Given the description of an element on the screen output the (x, y) to click on. 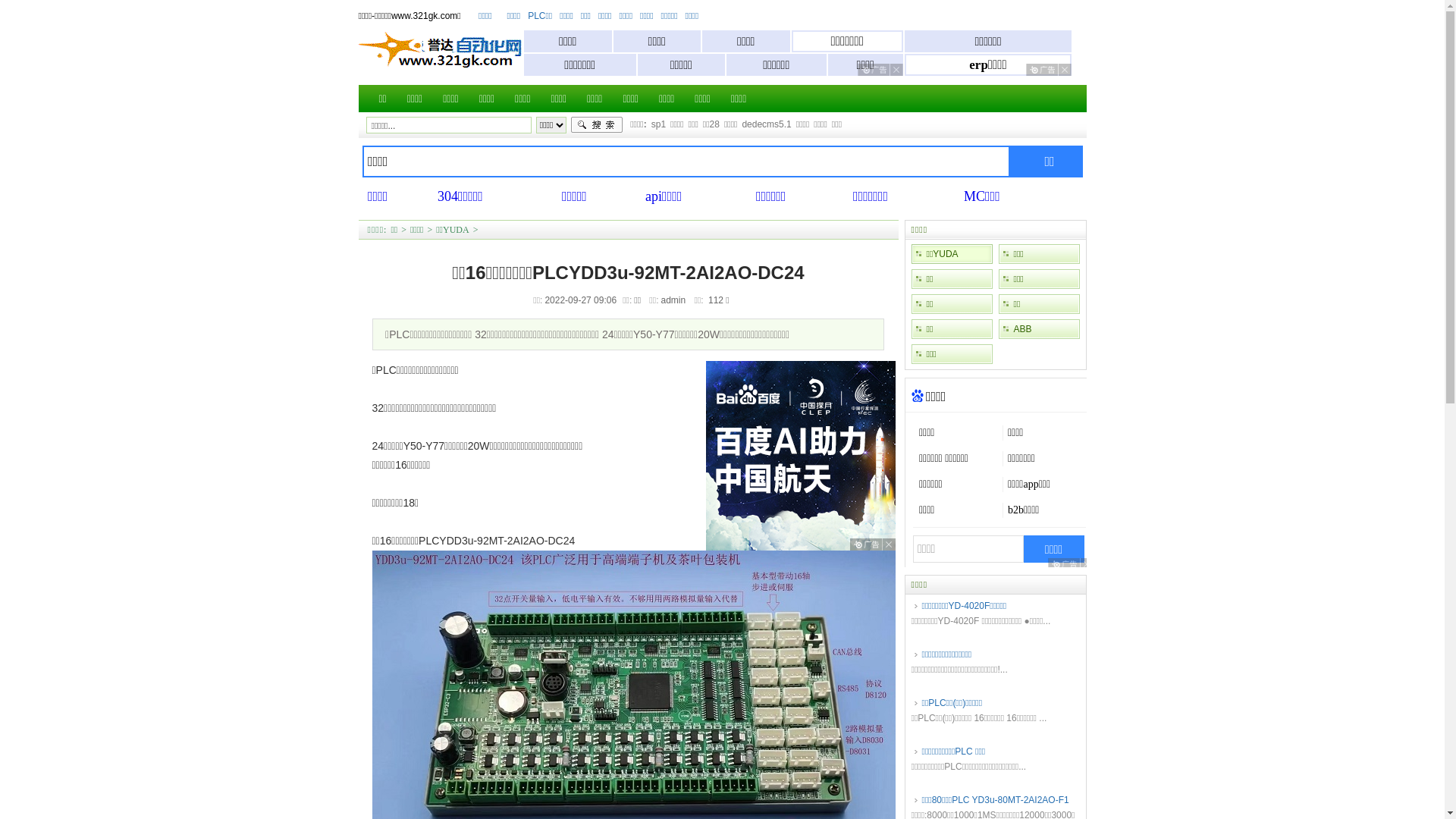
sp1 Element type: text (658, 124)
ABB Element type: text (1038, 328)
dedecms5.1 Element type: text (765, 124)
